Given the description of an element on the screen output the (x, y) to click on. 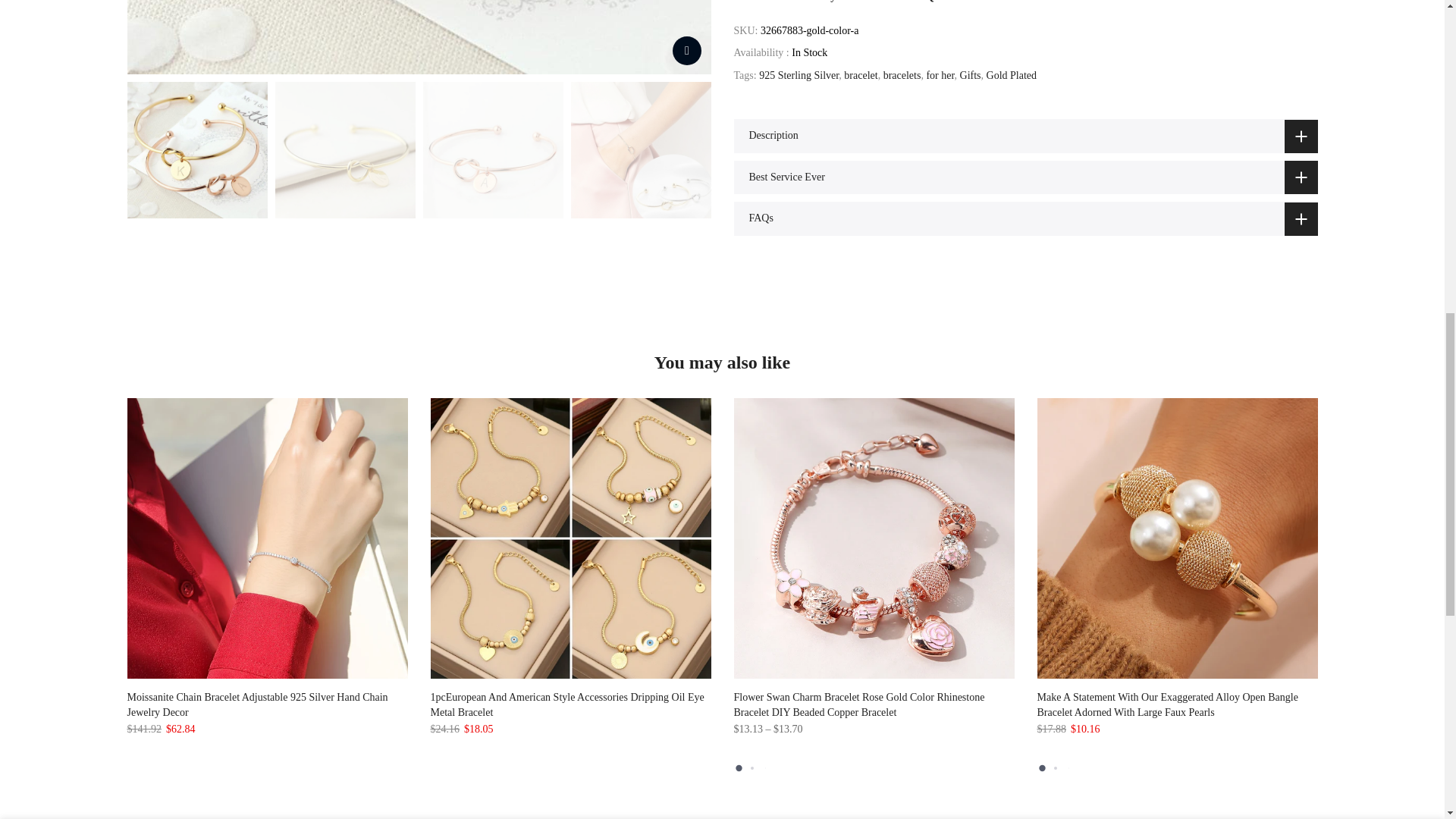
1 (1153, 35)
